Given the description of an element on the screen output the (x, y) to click on. 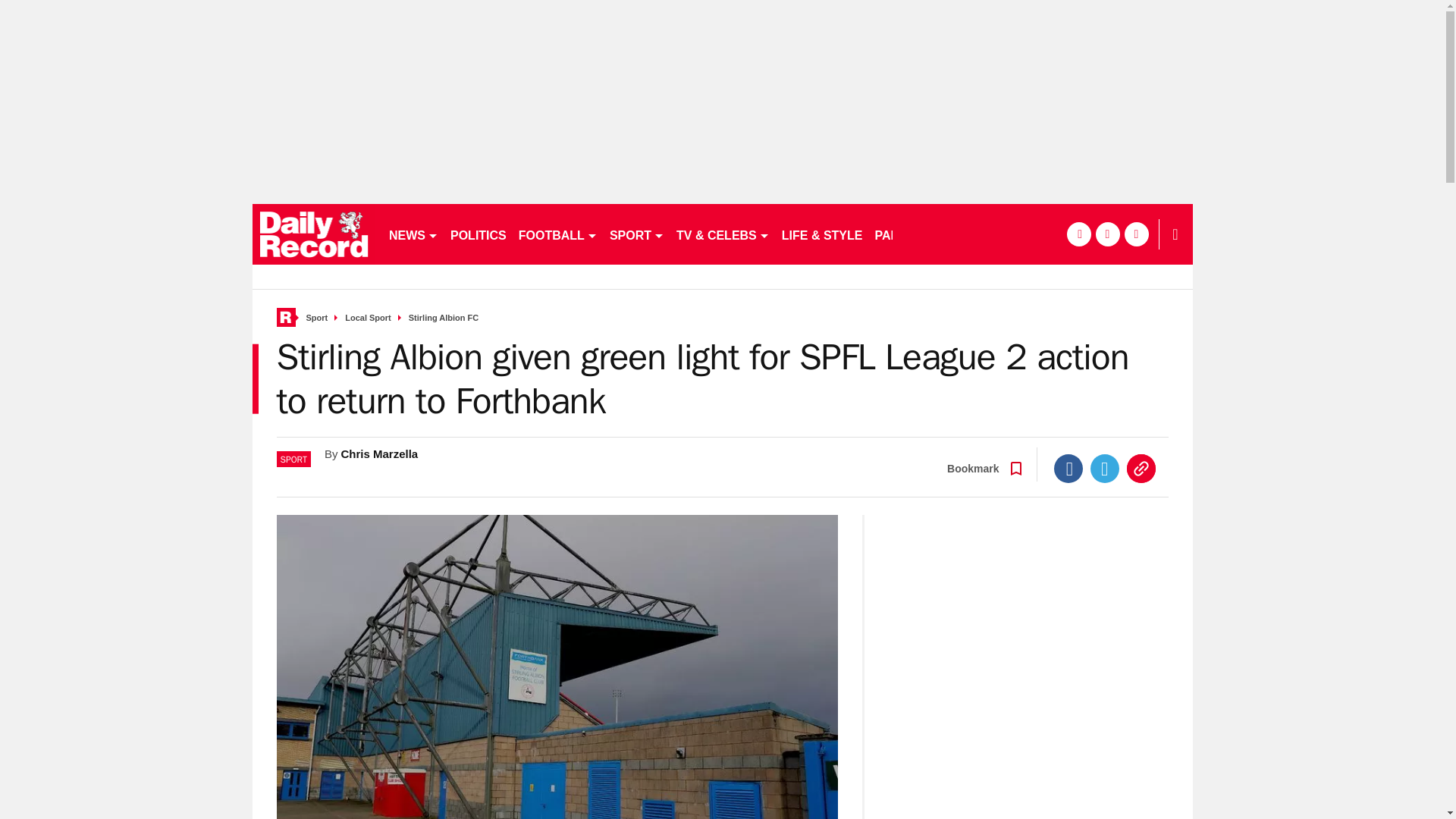
dailyrecord (313, 233)
NEWS (413, 233)
Twitter (1104, 468)
FOOTBALL (558, 233)
instagram (1136, 233)
POLITICS (478, 233)
facebook (1077, 233)
Facebook (1068, 468)
SPORT (636, 233)
twitter (1106, 233)
